Given the description of an element on the screen output the (x, y) to click on. 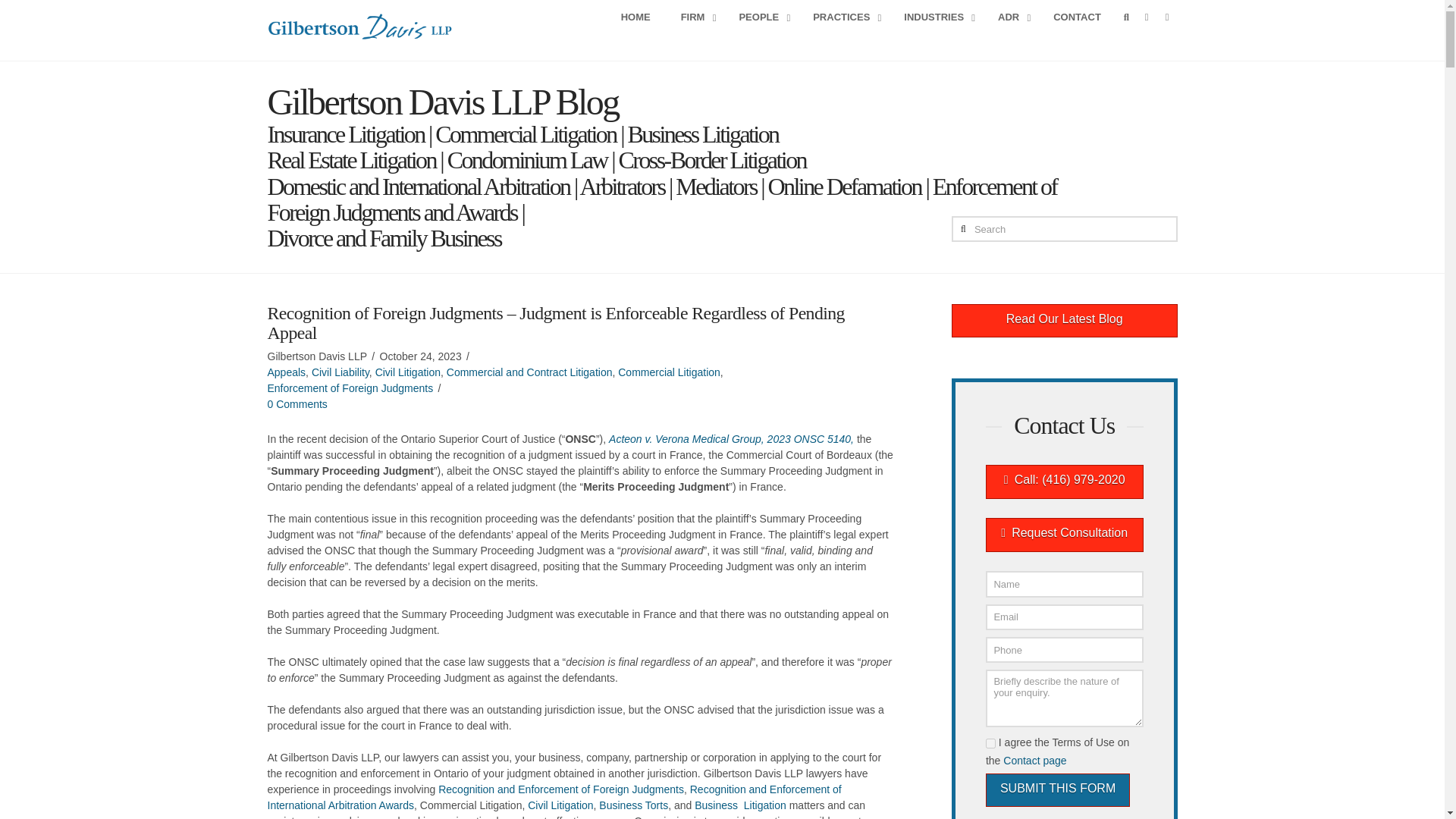
1 (990, 743)
HOME (635, 18)
Example (1064, 320)
Example (1063, 481)
SUBMIT THIS FORM (1057, 790)
Example (891, 18)
